Given the description of an element on the screen output the (x, y) to click on. 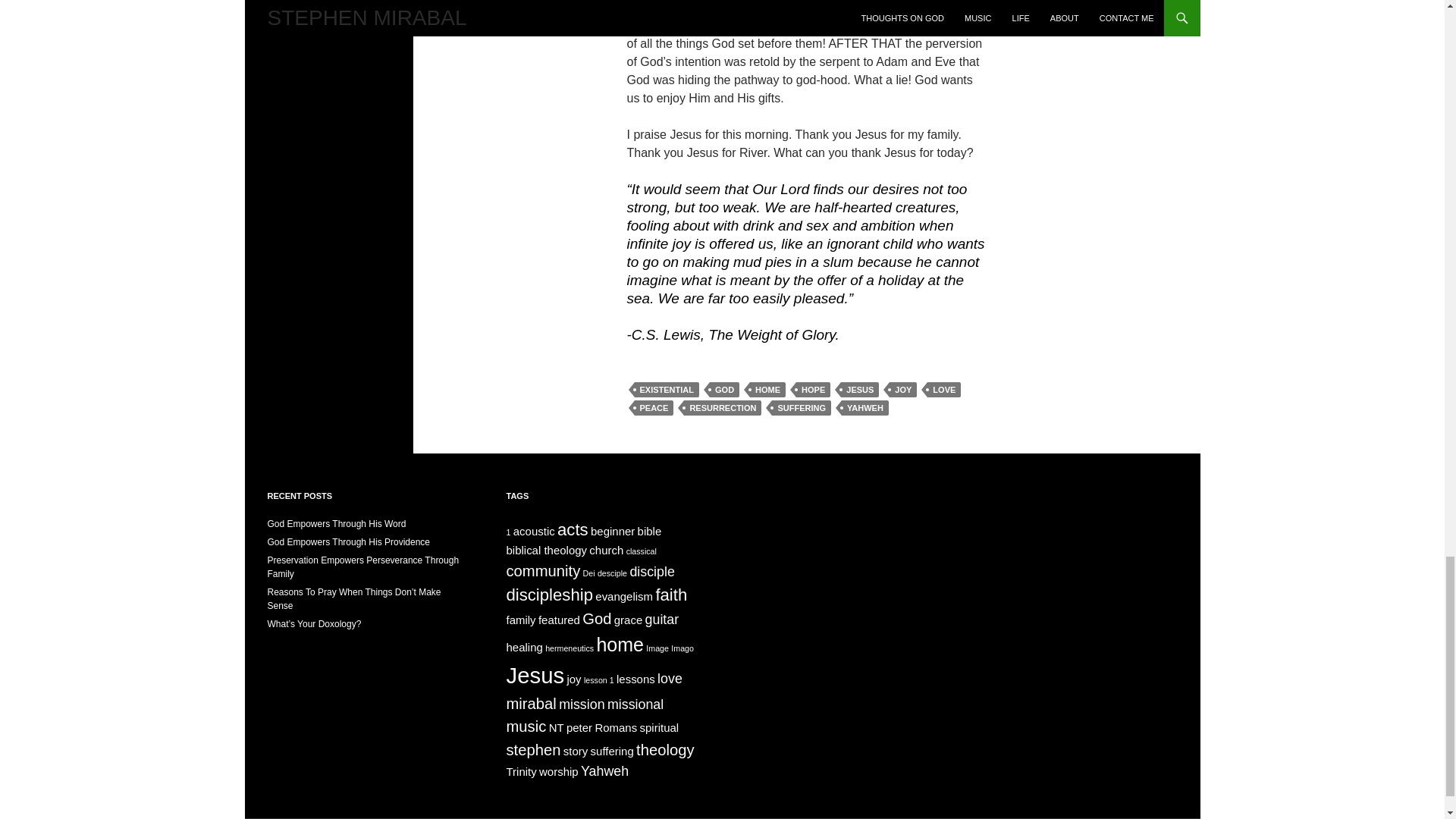
Preservation Empowers Perseverance Through Family (362, 567)
bible (649, 530)
classical (641, 551)
YAHWEH (864, 407)
God Empowers Through His Providence (347, 542)
SUFFERING (801, 407)
God Empowers Through His Word (336, 523)
GOD (724, 389)
HOME (767, 389)
acoustic (533, 530)
